Given the description of an element on the screen output the (x, y) to click on. 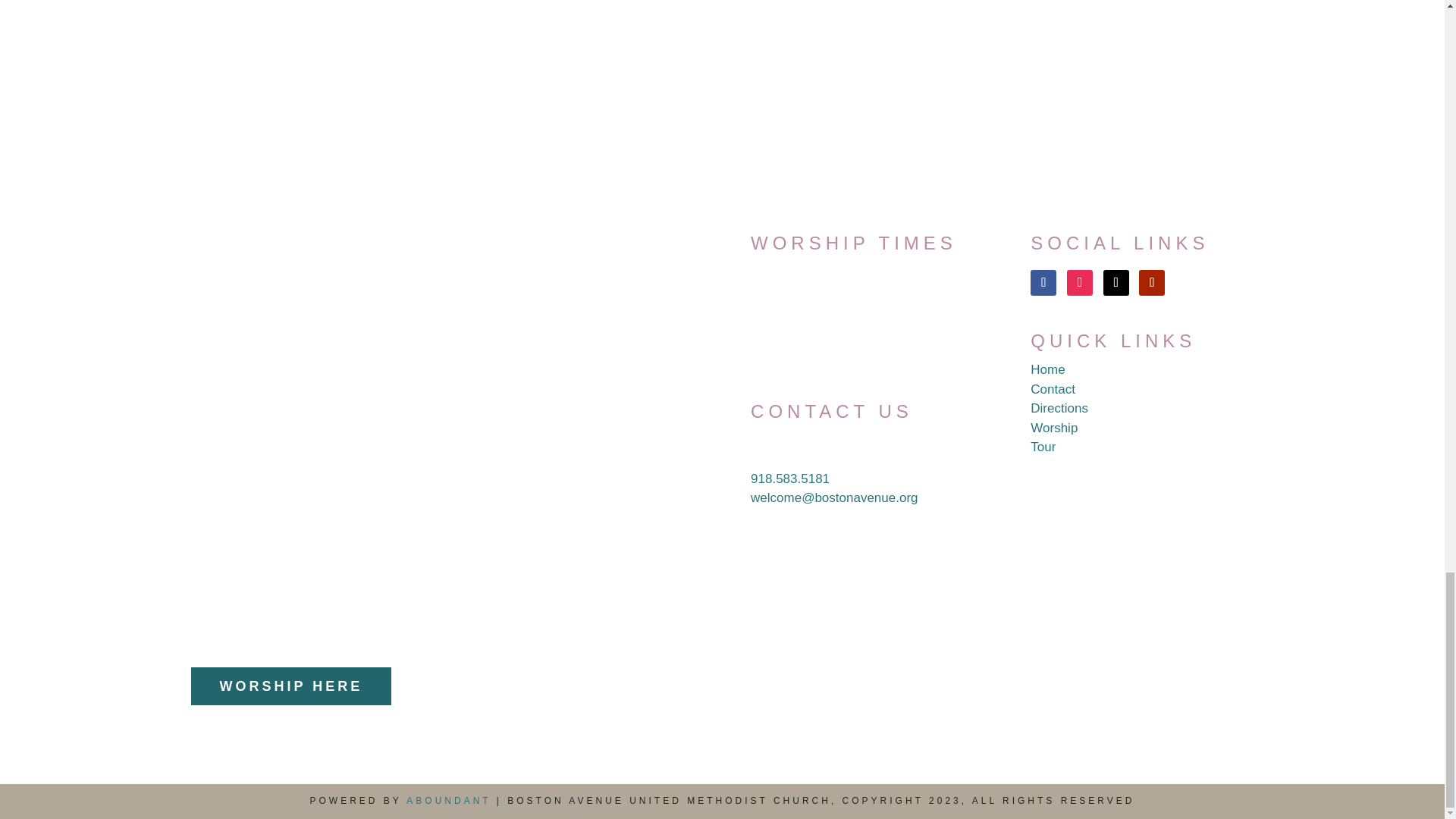
Follow on X (1116, 282)
Follow on Youtube (1151, 282)
Follow on Facebook (1043, 282)
Follow on Instagram (1080, 282)
